Given the description of an element on the screen output the (x, y) to click on. 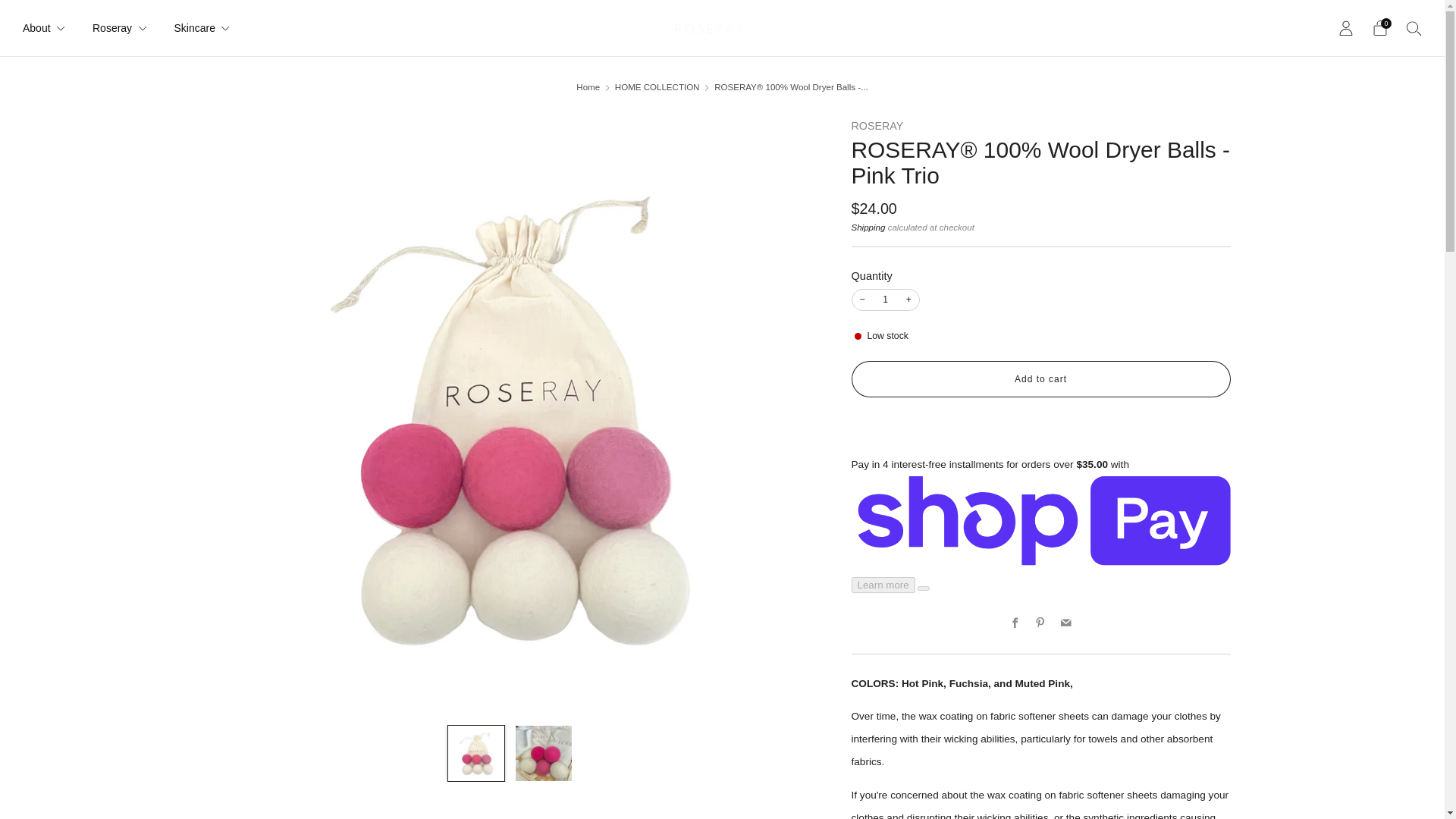
About (44, 27)
Skincare (202, 27)
Roseray (120, 27)
Home (587, 86)
1 (885, 299)
0 (1380, 28)
ROSERAY (876, 125)
